Given the description of an element on the screen output the (x, y) to click on. 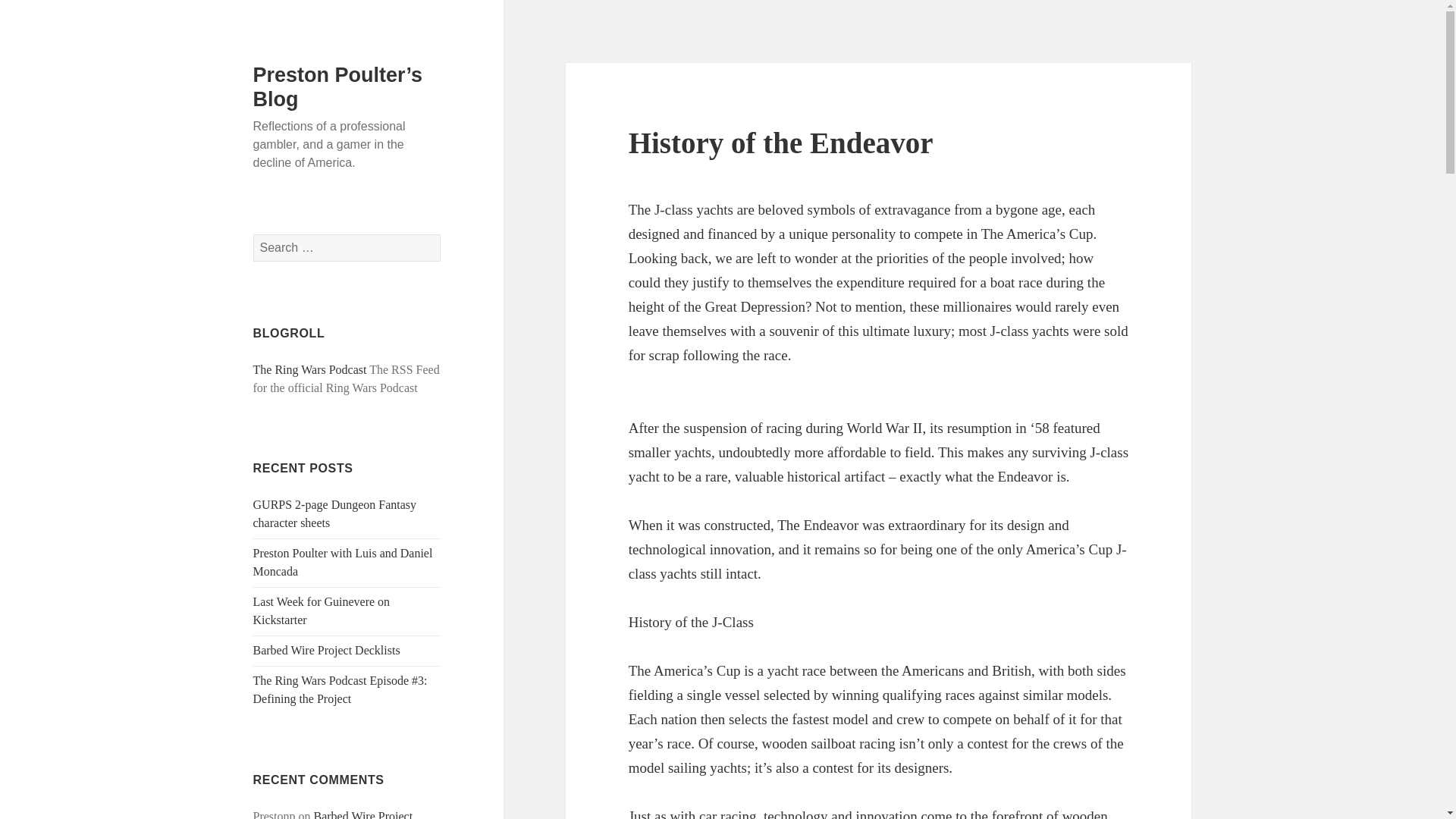
The Ring Wars Podcast (309, 369)
Barbed Wire Project Decklists (333, 814)
Preston Poulter with Luis and Daniel Moncada (342, 562)
GURPS 2-page Dungeon Fantasy character sheets (334, 513)
Last Week for Guinevere on Kickstarter (321, 610)
The RSS Feed for the official Ring Wars Podcast (309, 369)
Barbed Wire Project Decklists (326, 649)
